Given the description of an element on the screen output the (x, y) to click on. 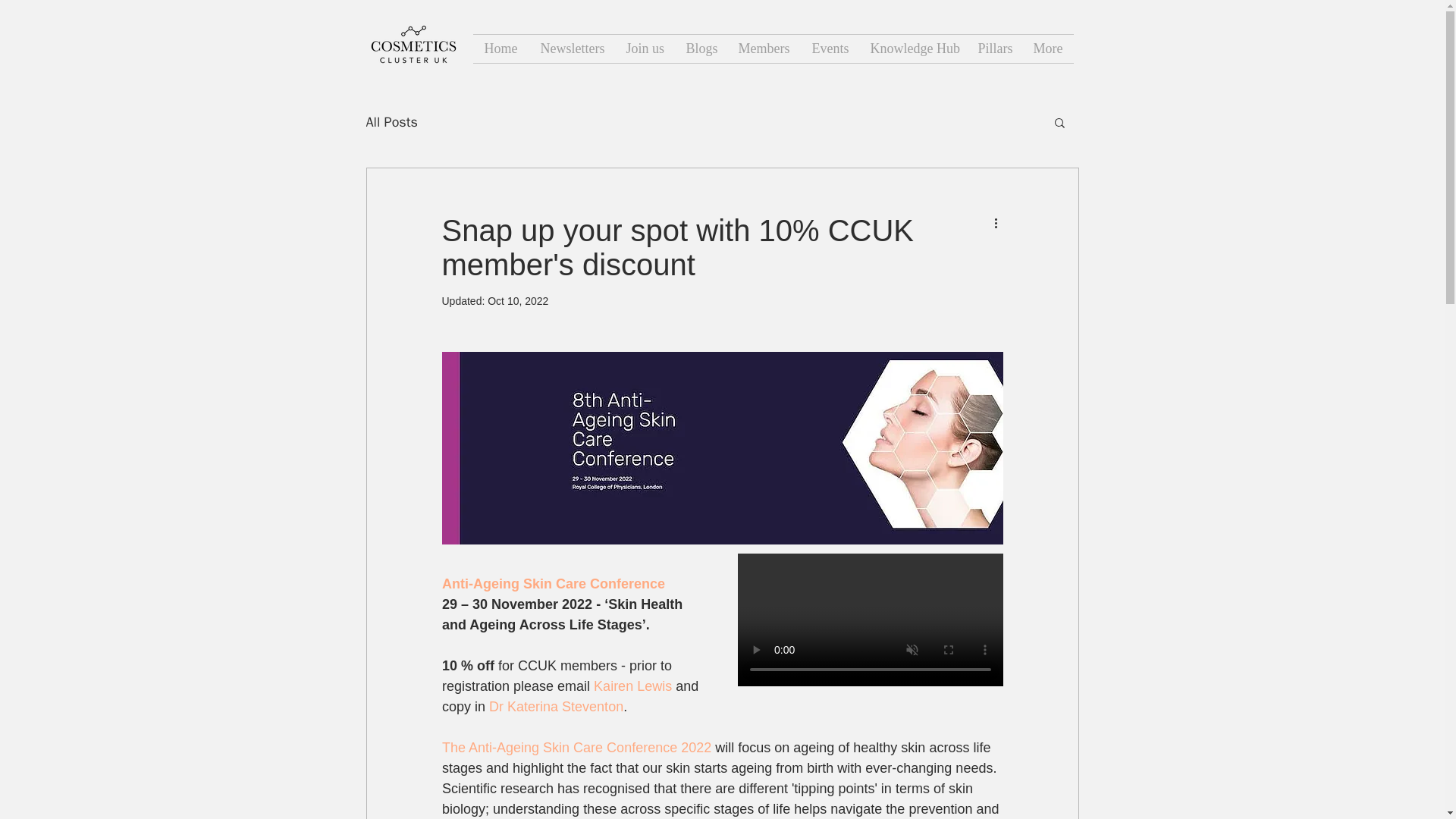
Blogs (700, 49)
Dr Katerina Steventon (556, 706)
Join us (644, 49)
Knowledge Hub (912, 49)
Home (501, 49)
Oct 10, 2022 (517, 300)
Anti-Ageing Skin Care Conference (552, 583)
The Anti-Ageing Skin Care Conference 2022 (575, 747)
Pillars (994, 49)
Events (829, 49)
Kairen Lewis  (634, 685)
Members (762, 49)
All Posts (390, 122)
Newsletters (571, 49)
